Given the description of an element on the screen output the (x, y) to click on. 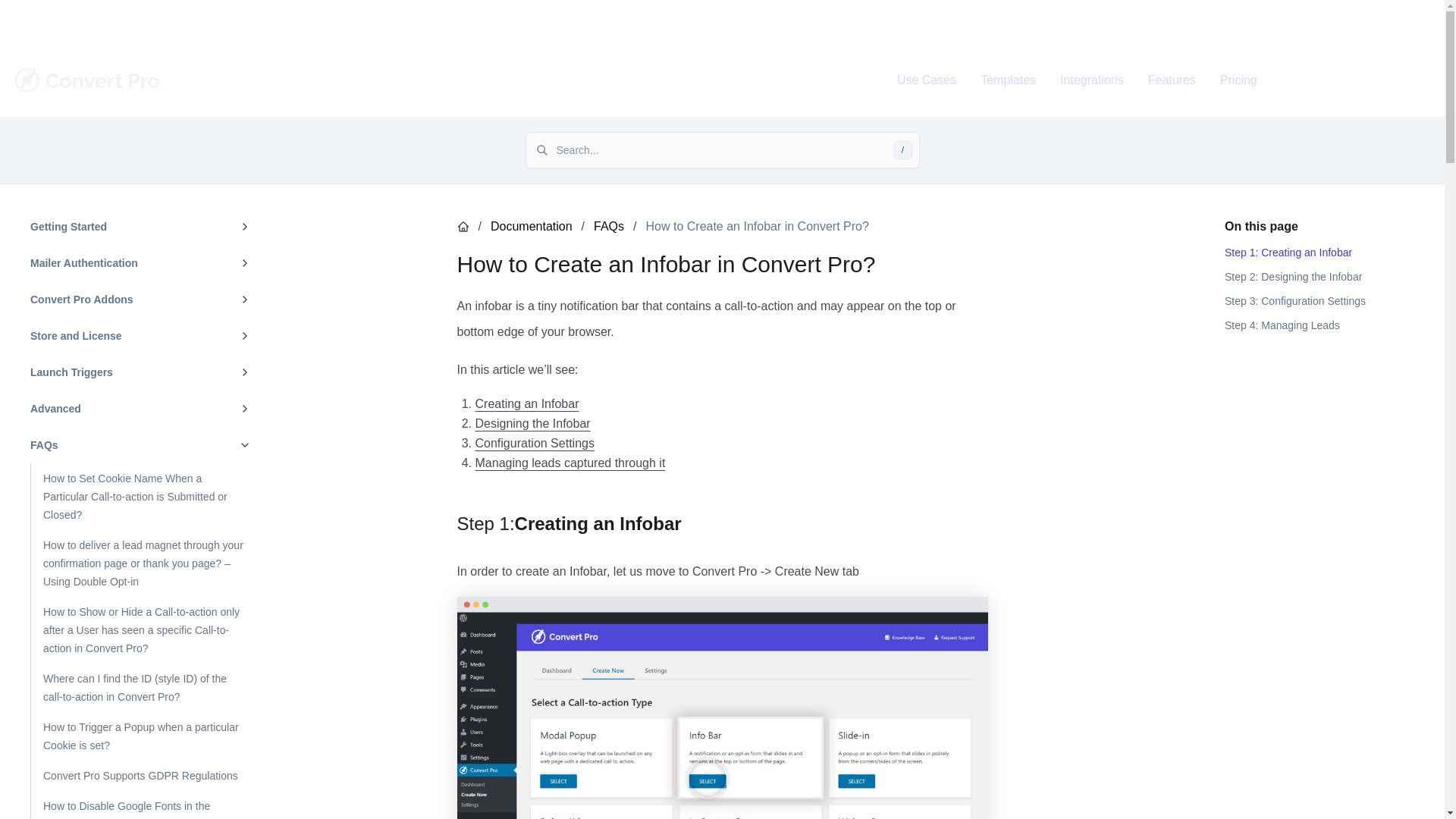
Our Products (1188, 20)
Templates (1008, 80)
Blog (1403, 20)
Integrations (1091, 80)
Features (1171, 80)
Pricing (1238, 80)
Use Cases (926, 80)
Support (1264, 20)
My Account (1337, 20)
